Given the description of an element on the screen output the (x, y) to click on. 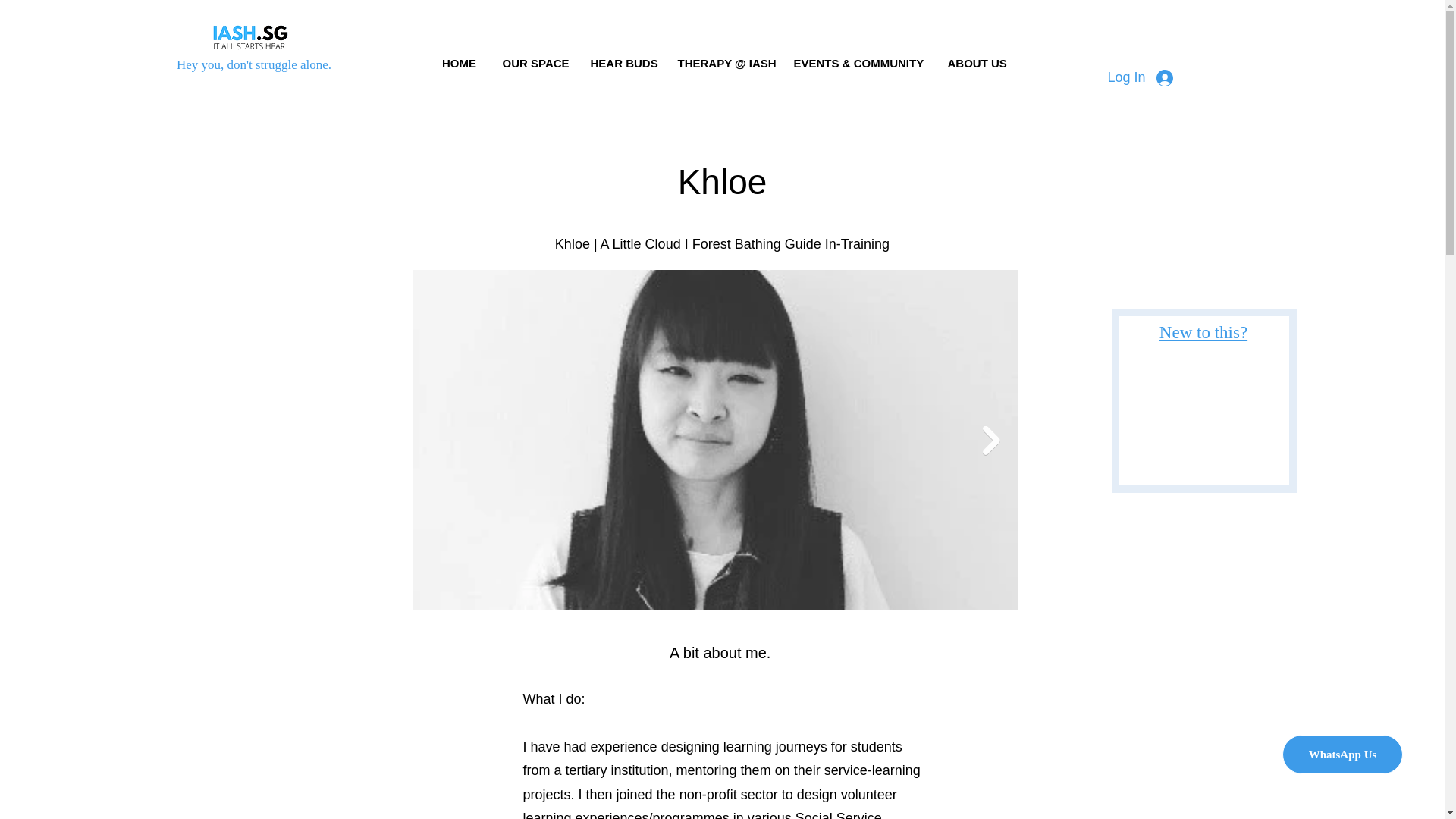
ABOUT US (974, 56)
OUR SPACE (533, 56)
HEAR BUDS (621, 56)
WhatsApp Us (1342, 753)
Log In (1139, 77)
HOME (459, 56)
